Given the description of an element on the screen output the (x, y) to click on. 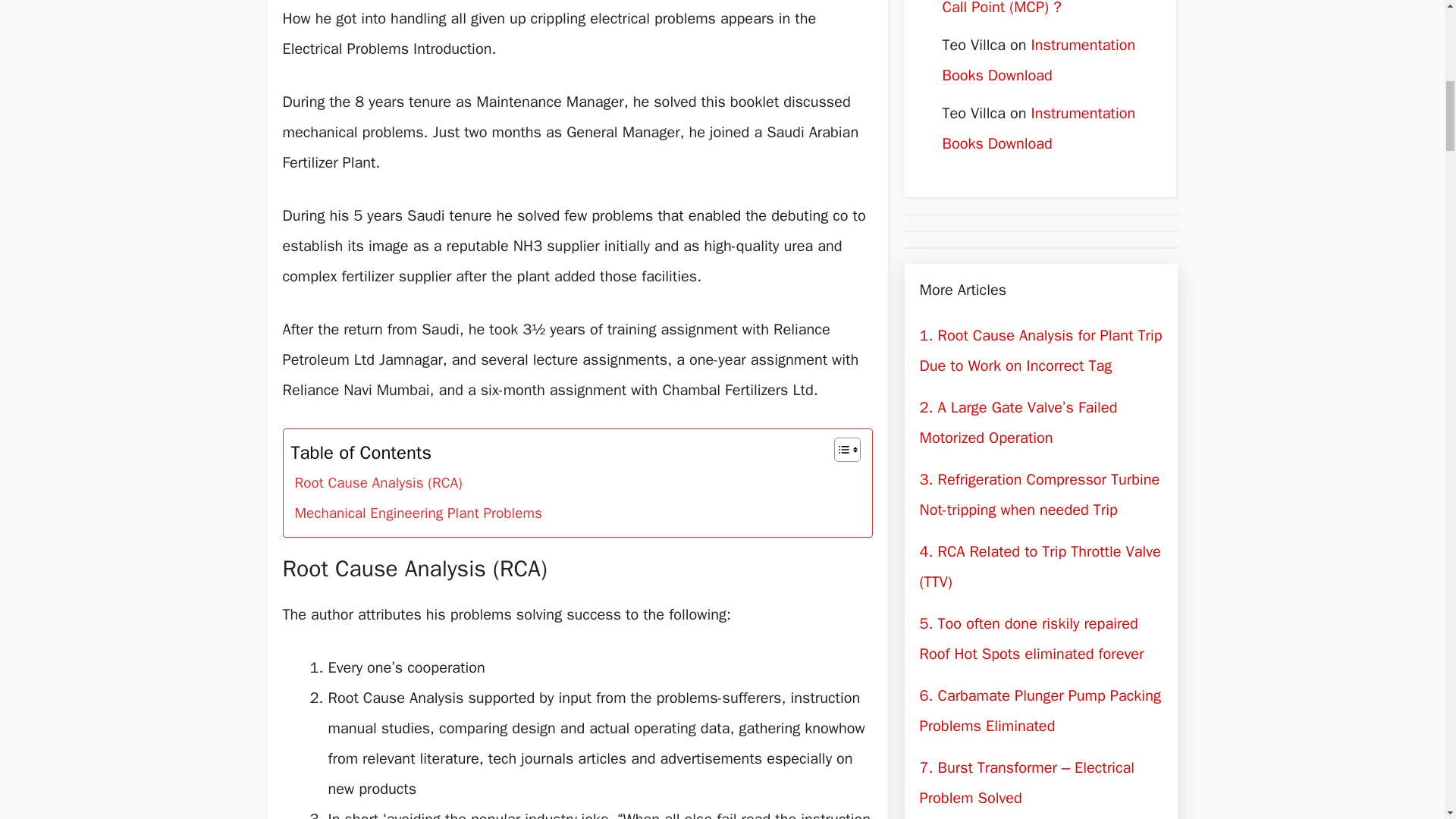
Mechanical Engineering Plant Problems (418, 512)
